Given the description of an element on the screen output the (x, y) to click on. 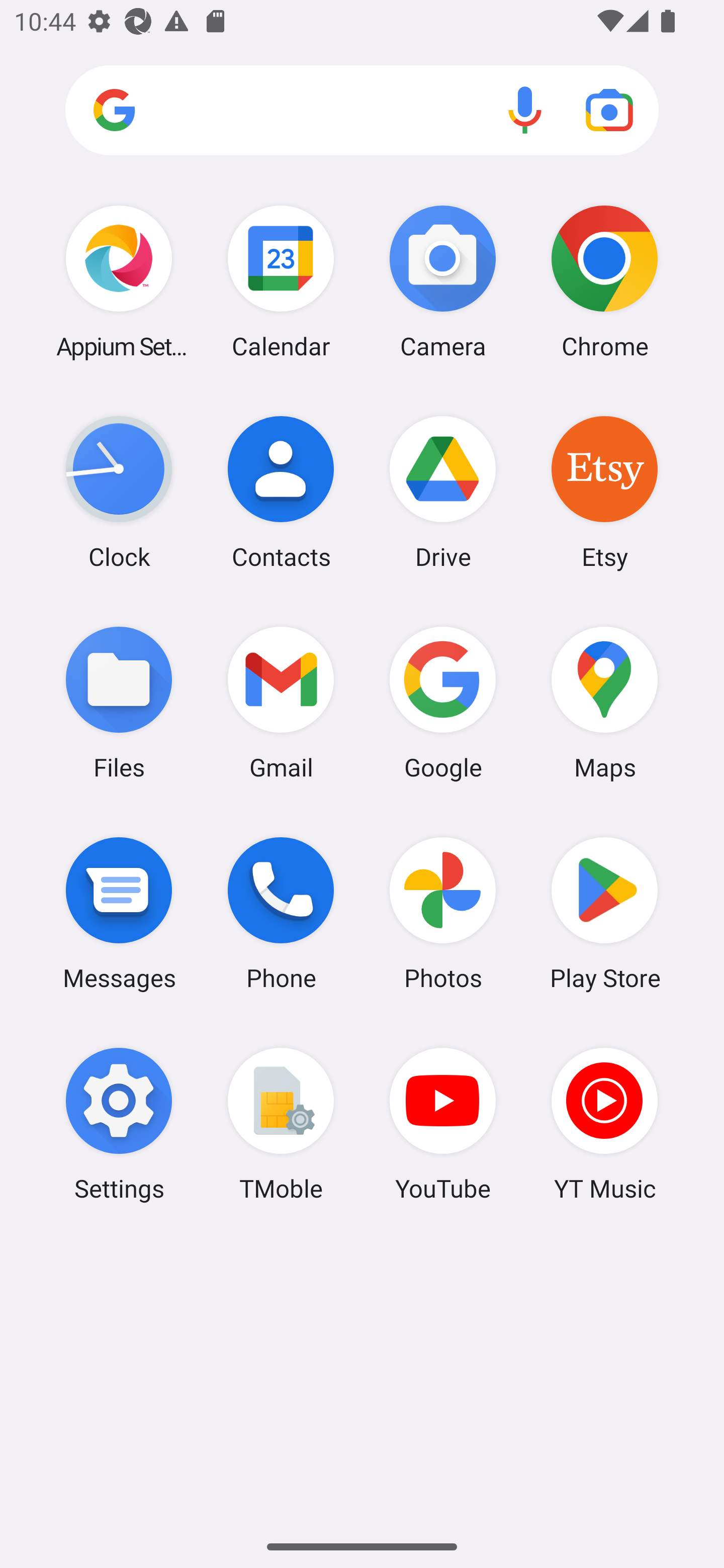
Search apps, web and more (361, 110)
Voice search (524, 109)
Google Lens (608, 109)
Appium Settings (118, 281)
Calendar (280, 281)
Camera (443, 281)
Chrome (604, 281)
Clock (118, 492)
Contacts (280, 492)
Drive (443, 492)
Etsy (604, 492)
Files (118, 702)
Gmail (280, 702)
Google (443, 702)
Maps (604, 702)
Messages (118, 913)
Phone (280, 913)
Photos (443, 913)
Play Store (604, 913)
Settings (118, 1124)
TMoble (280, 1124)
YouTube (443, 1124)
YT Music (604, 1124)
